Given the description of an element on the screen output the (x, y) to click on. 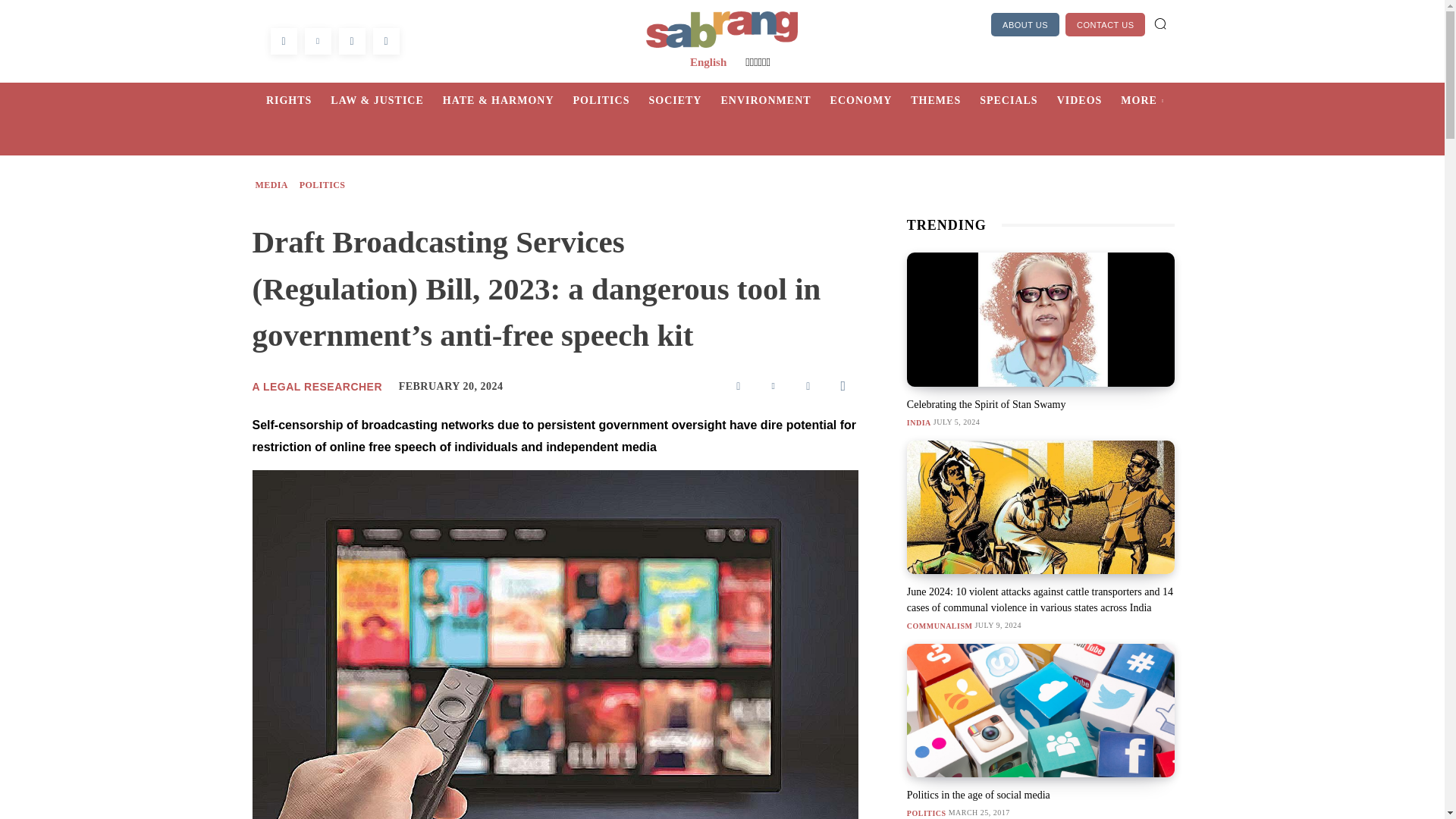
Youtube (385, 40)
SOCIETY (683, 100)
Facebook (283, 40)
Twitter (773, 386)
ECONOMY (870, 100)
Linkedin (808, 386)
Celebrating the Spirit of Stan Swamy (986, 404)
English (708, 61)
WhatsApp (351, 40)
Facebook (738, 386)
Celebrating the Spirit of Stan Swamy (1040, 318)
POLITICS (611, 100)
CONTACT US (1105, 24)
WhatsApp (843, 386)
Twitter (317, 40)
